Given the description of an element on the screen output the (x, y) to click on. 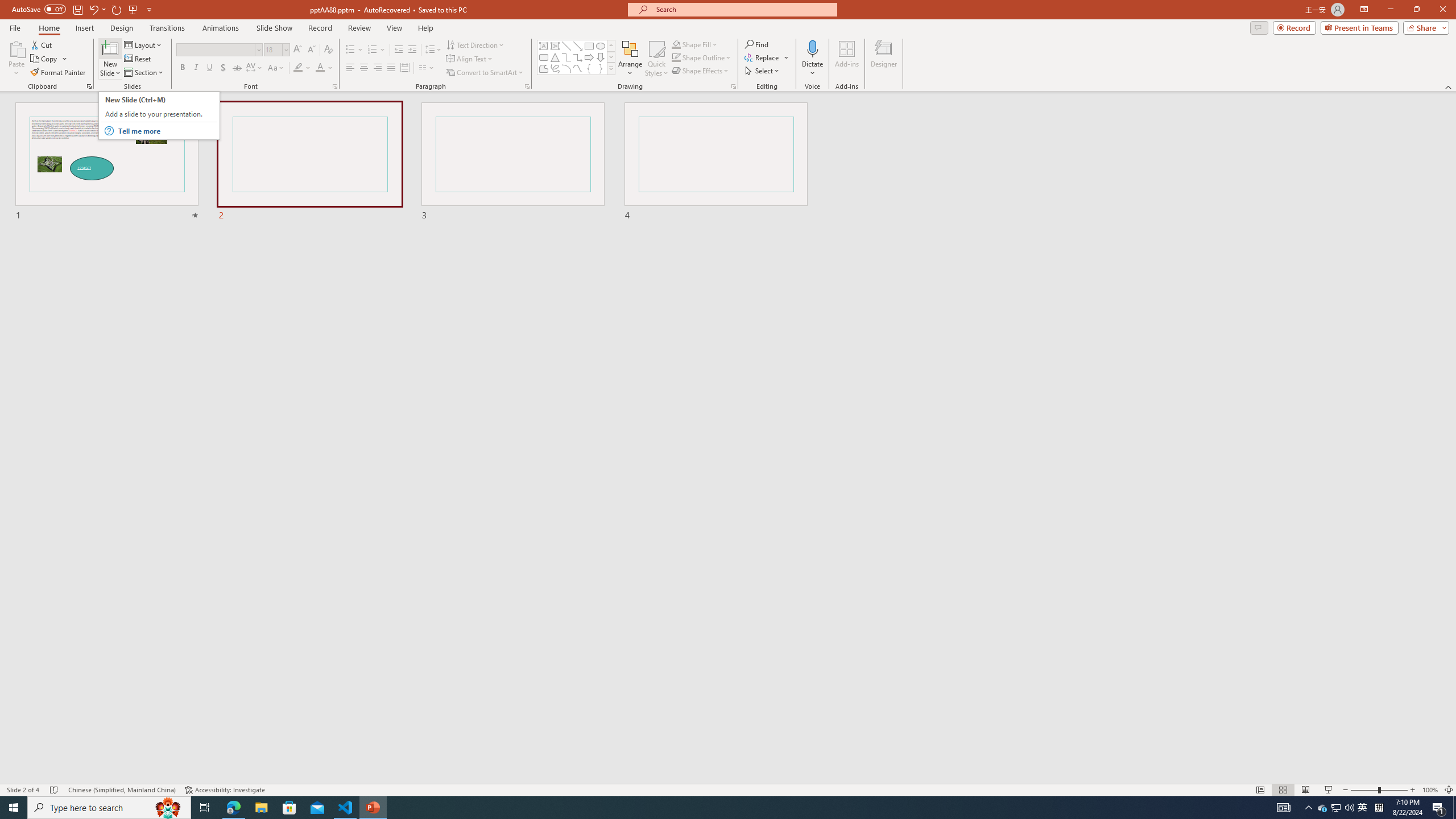
Font (215, 49)
Font Color (324, 67)
Reading View (1305, 790)
Zoom Out (1364, 790)
Convert to SmartArt (485, 72)
Paste (16, 58)
Dictate (812, 58)
Row up (611, 45)
Center (363, 67)
Office Clipboard... (88, 85)
Designer (883, 58)
Save (77, 9)
Slide Show (273, 28)
Line Arrow (577, 45)
Distributed (404, 67)
